Given the description of an element on the screen output the (x, y) to click on. 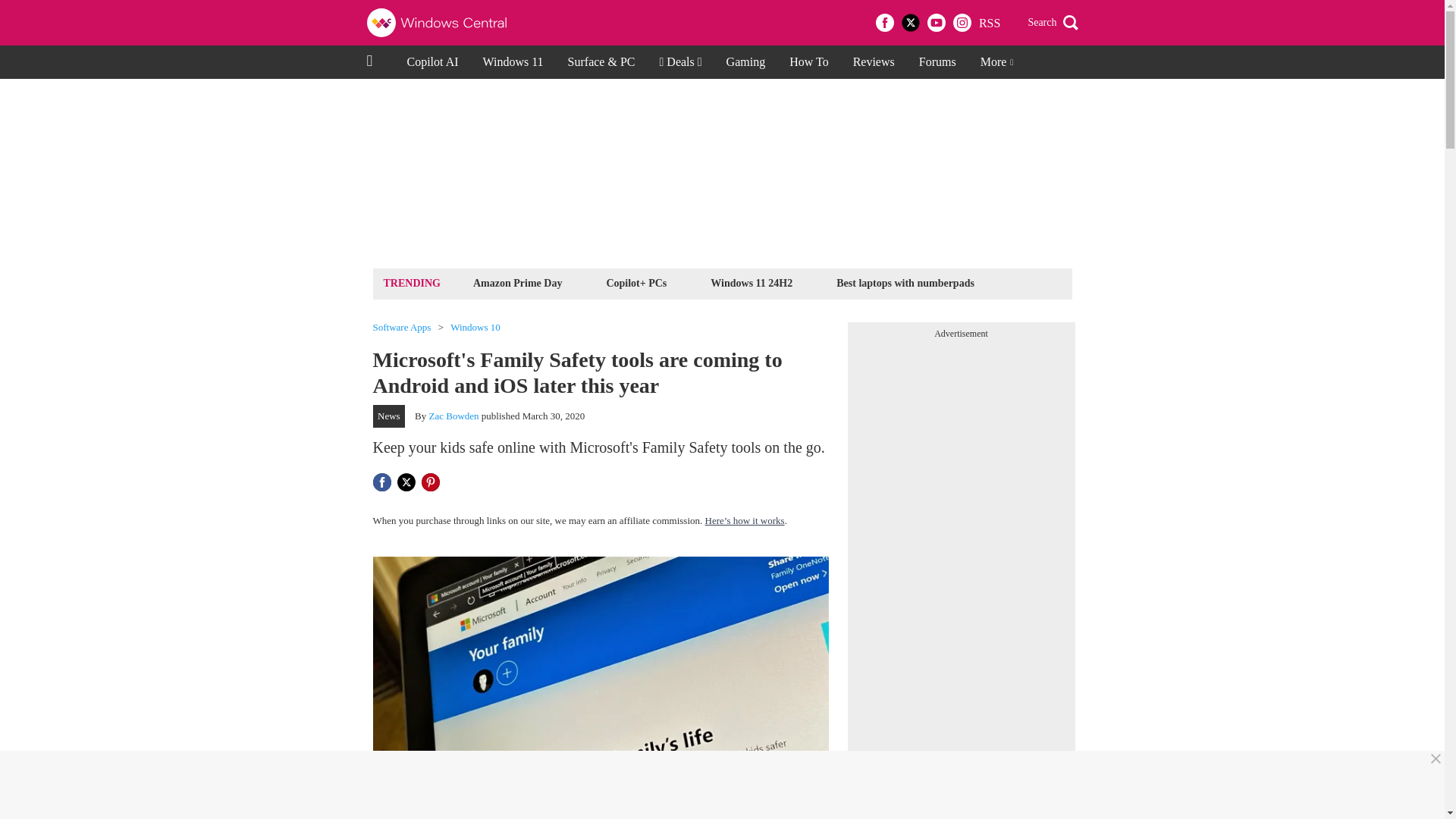
Zac Bowden (454, 415)
News (389, 415)
Reviews (874, 61)
RSS (989, 22)
Windows 11 24H2 (750, 282)
Windows 11 (513, 61)
Copilot AI (432, 61)
How To (808, 61)
Windows 10 (474, 327)
Amazon Prime Day (517, 282)
Software Apps (401, 327)
Gaming (745, 61)
